Given the description of an element on the screen output the (x, y) to click on. 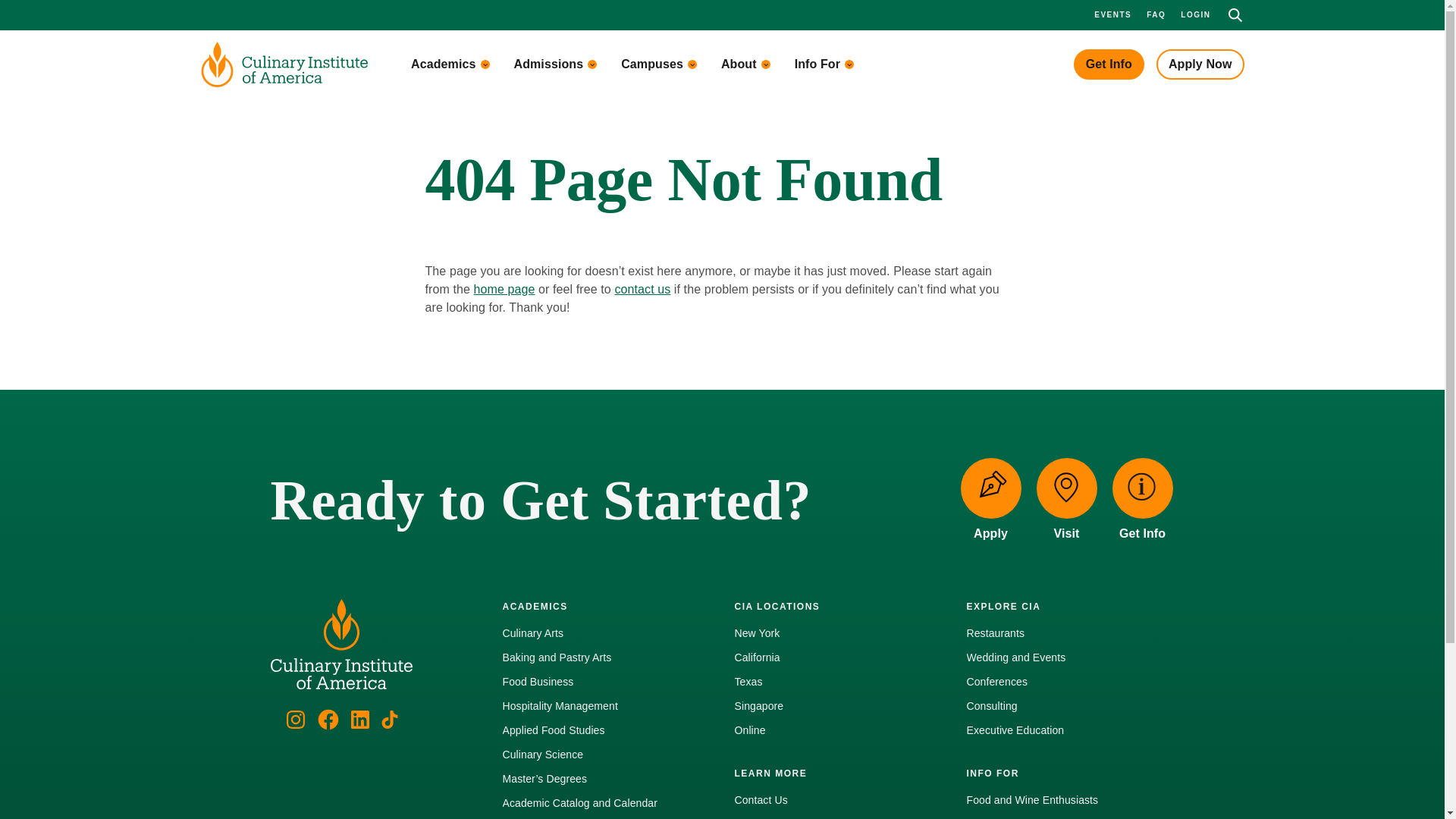
Academics (449, 64)
Graduate (457, 199)
Baking and Pastry Arts (355, 199)
Hospitality Management (355, 309)
Search (8, 9)
Undergraduate (561, 172)
Certificate (561, 227)
Toggle Search Form (1234, 14)
MAJORS (355, 138)
FAQ (1156, 14)
